Given the description of an element on the screen output the (x, y) to click on. 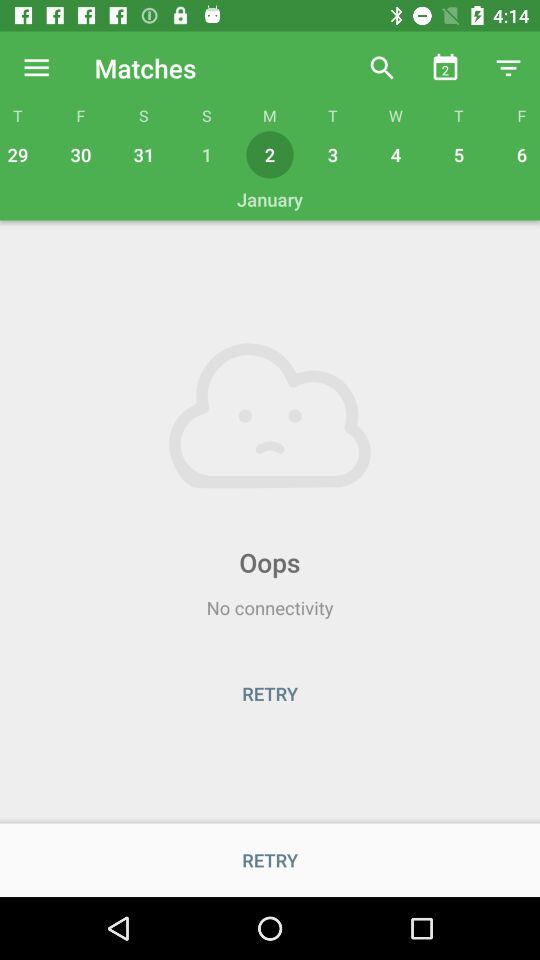
turn off the 29 (20, 154)
